Given the description of an element on the screen output the (x, y) to click on. 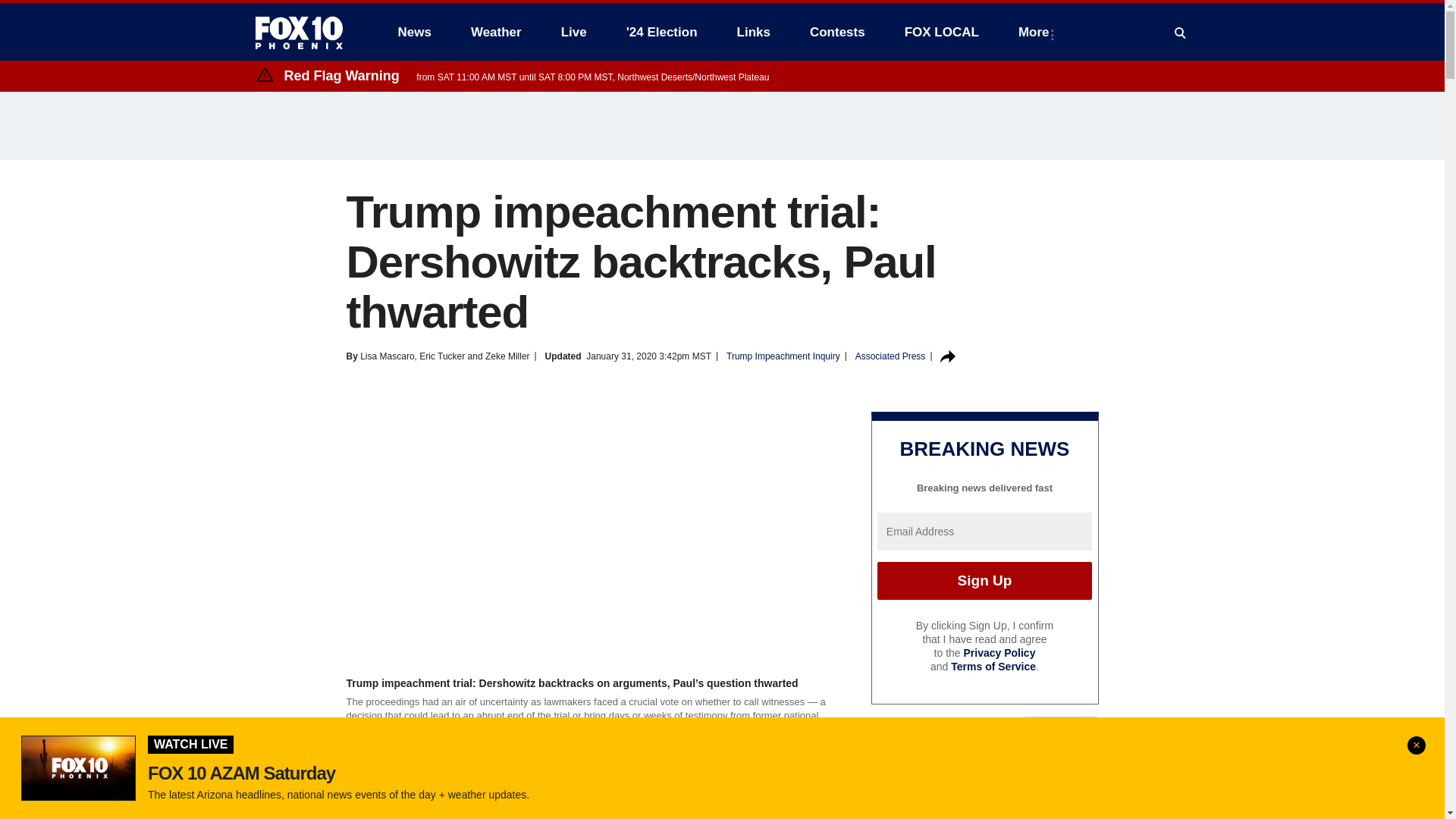
Live (573, 32)
'24 Election (662, 32)
Links (754, 32)
More (1036, 32)
FOX LOCAL (941, 32)
Sign Up (984, 580)
Weather (496, 32)
News (413, 32)
Contests (837, 32)
